Given the description of an element on the screen output the (x, y) to click on. 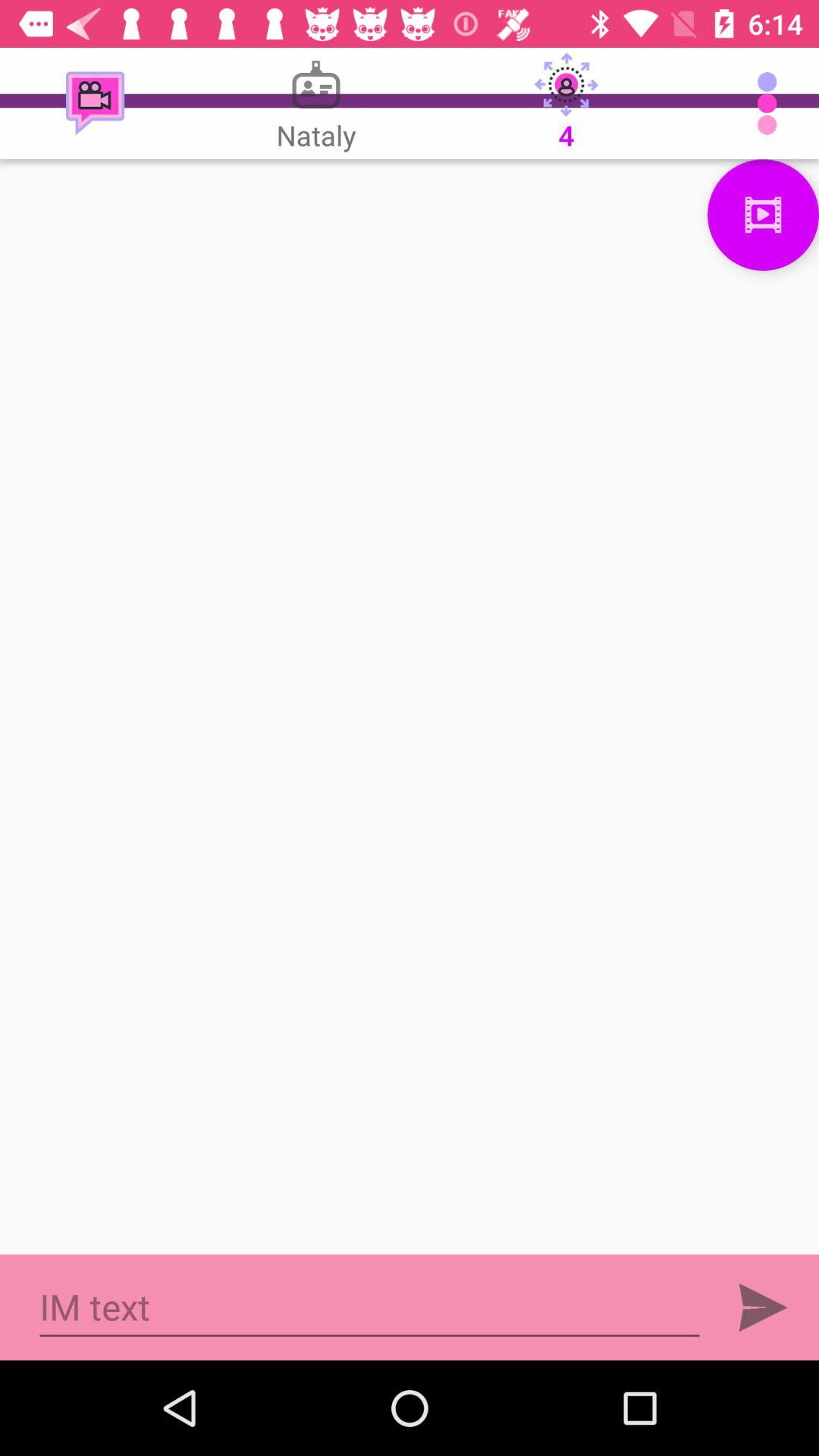
empty image (409, 706)
